Given the description of an element on the screen output the (x, y) to click on. 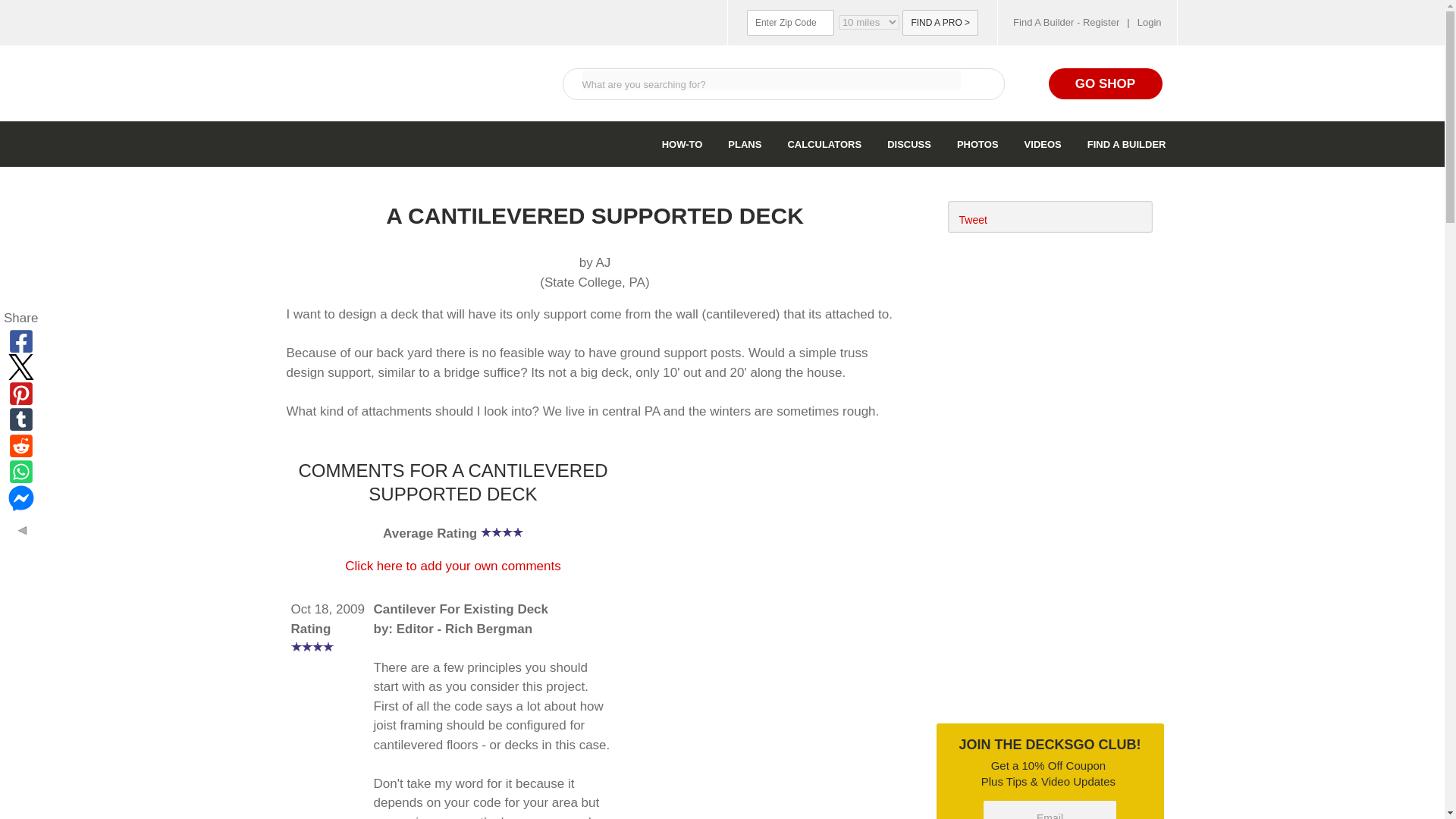
GO SHOP (1104, 83)
DISCUSS (911, 144)
Go (978, 83)
VIDEOS (1045, 144)
What are you searching for? (771, 80)
Go (978, 83)
Get Free Deck Plans (1049, 357)
Email (1050, 809)
PHOTOS (979, 144)
FIND A BUILDER (1126, 144)
